Given the description of an element on the screen output the (x, y) to click on. 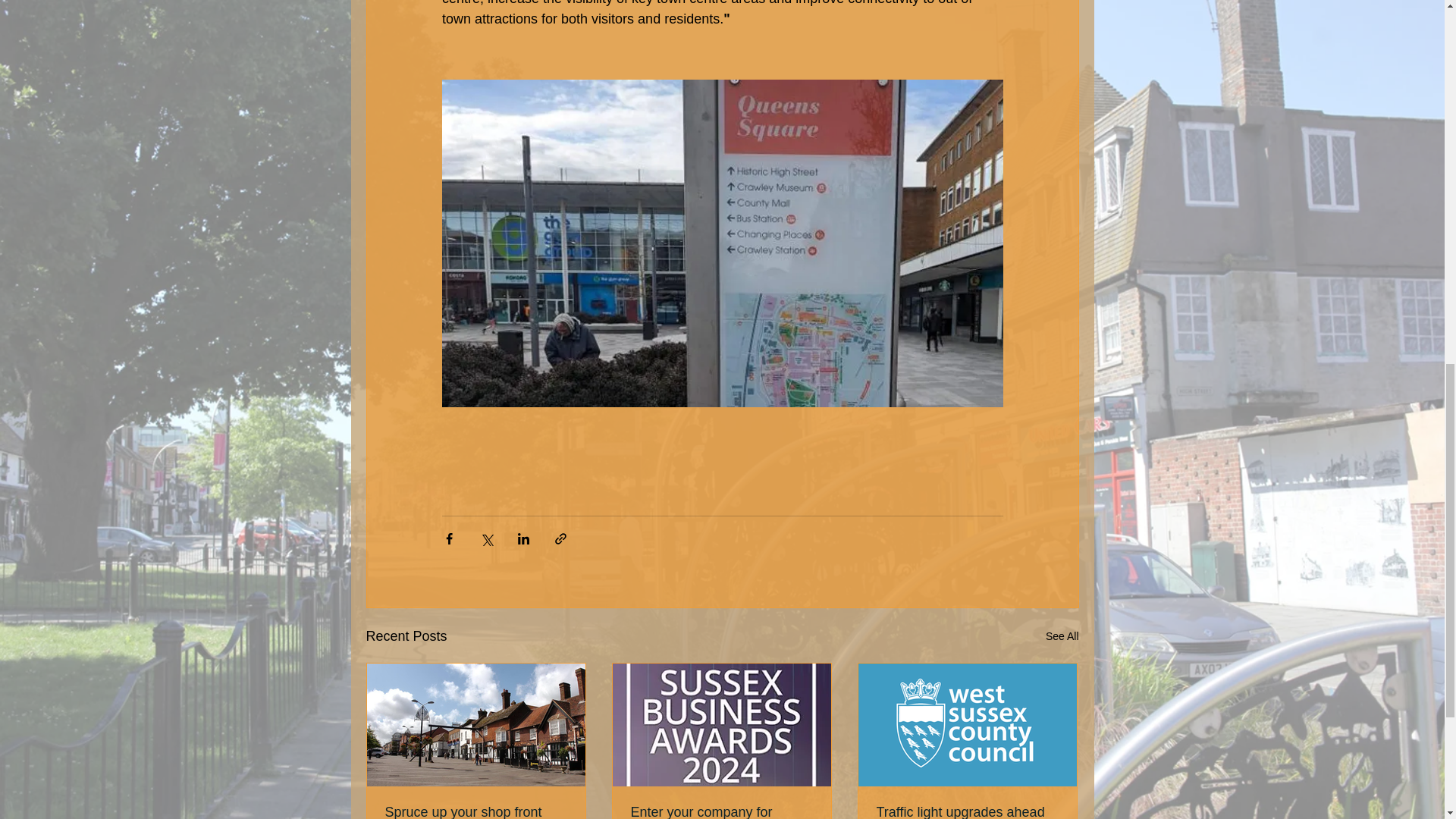
Traffic light upgrades ahead for Southgate Avenue, Crawley (967, 811)
See All (1061, 636)
Enter your company for Sussex Business Awards (721, 811)
